Given the description of an element on the screen output the (x, y) to click on. 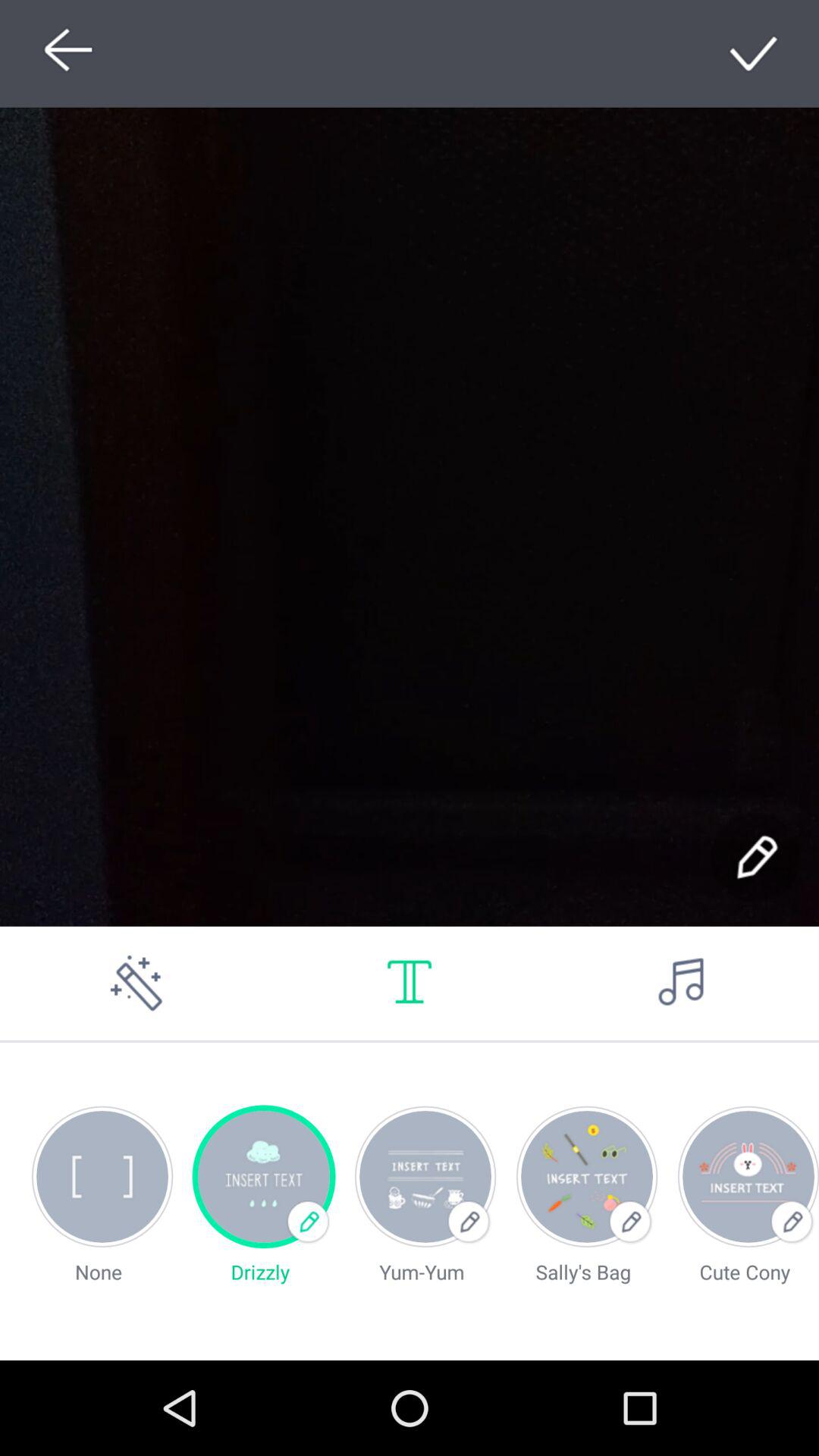
set font (409, 983)
